Given the description of an element on the screen output the (x, y) to click on. 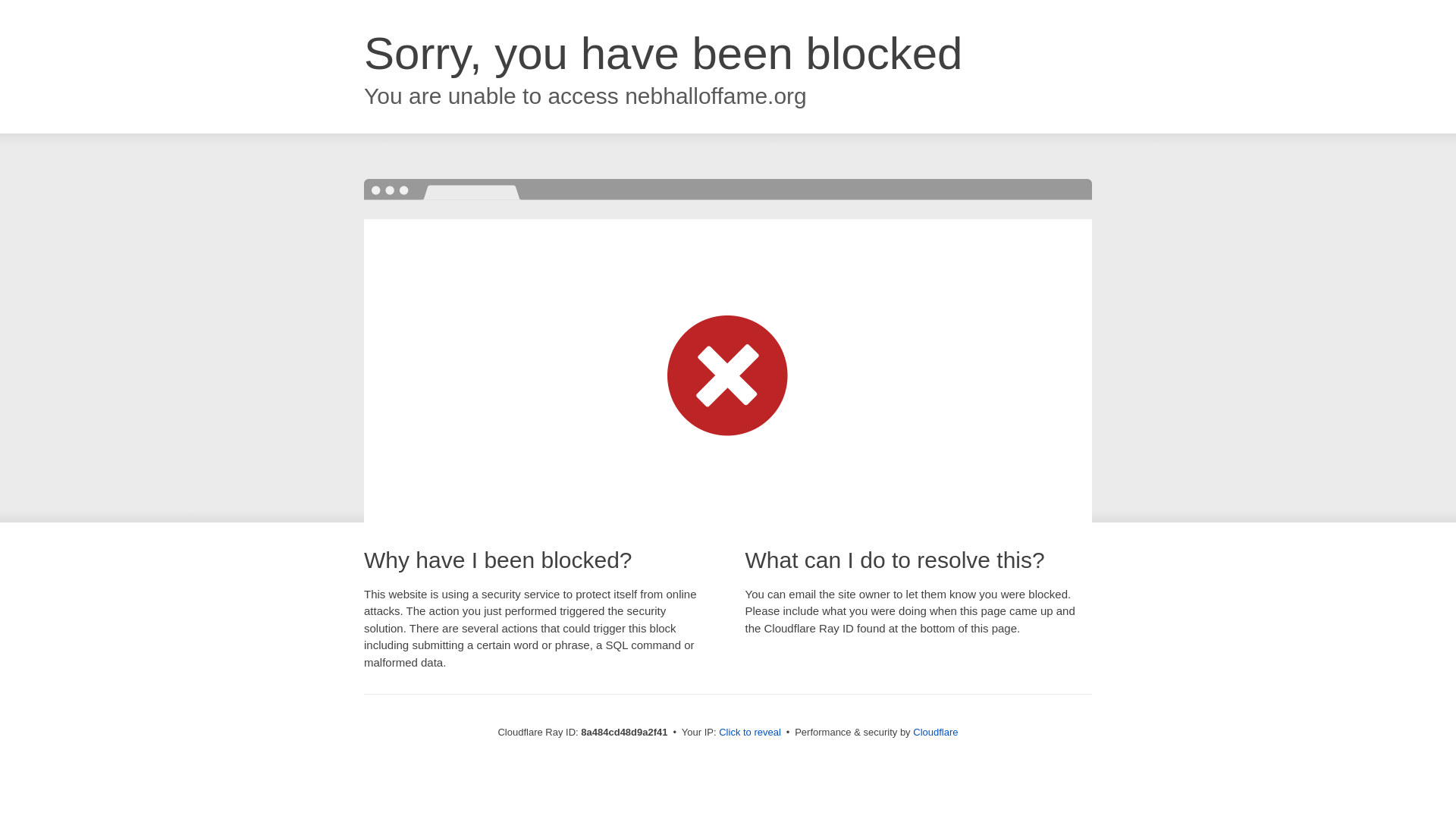
Click to reveal (749, 732)
Cloudflare (935, 731)
